Given the description of an element on the screen output the (x, y) to click on. 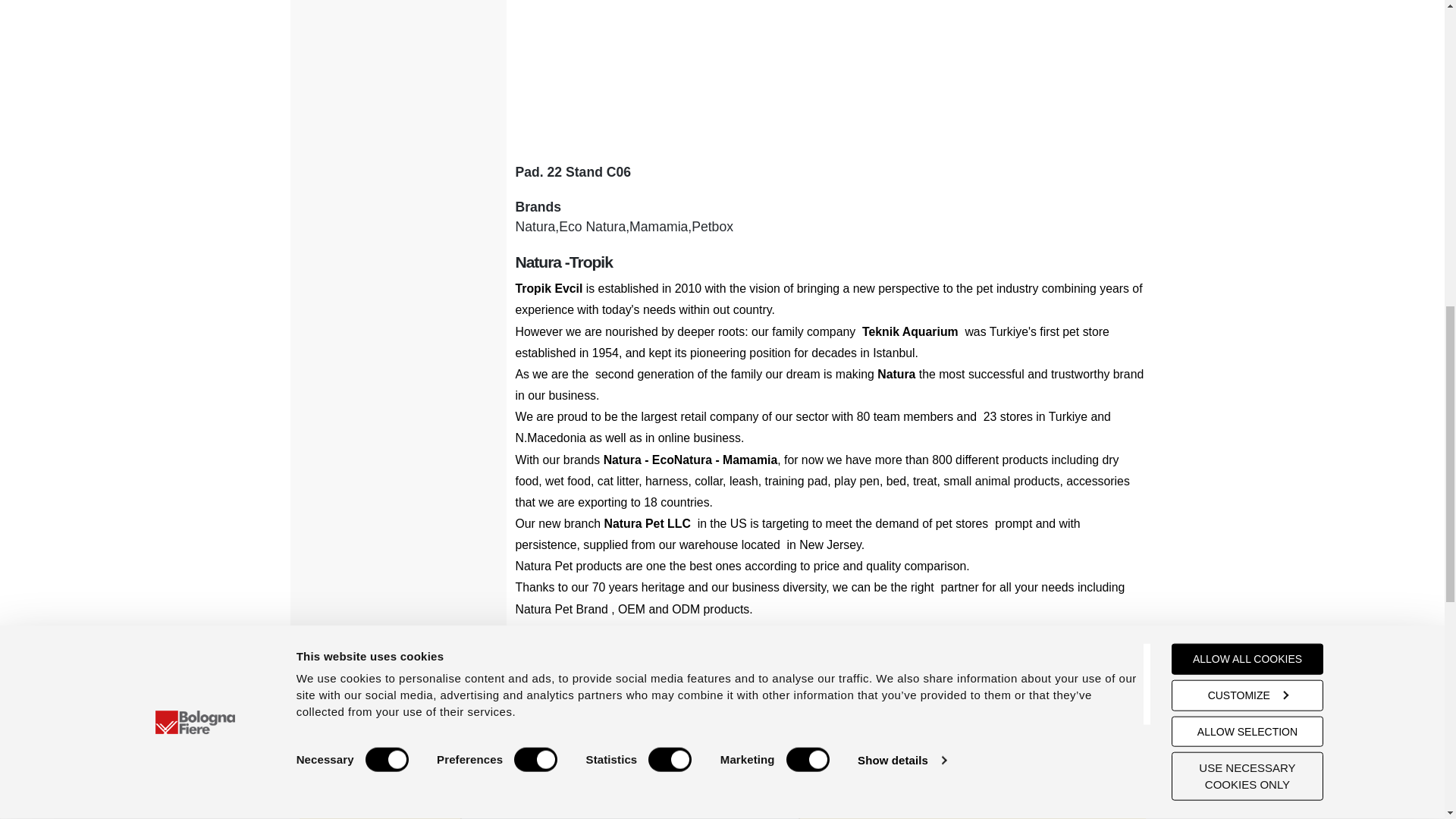
Subscribe (781, 807)
